Given the description of an element on the screen output the (x, y) to click on. 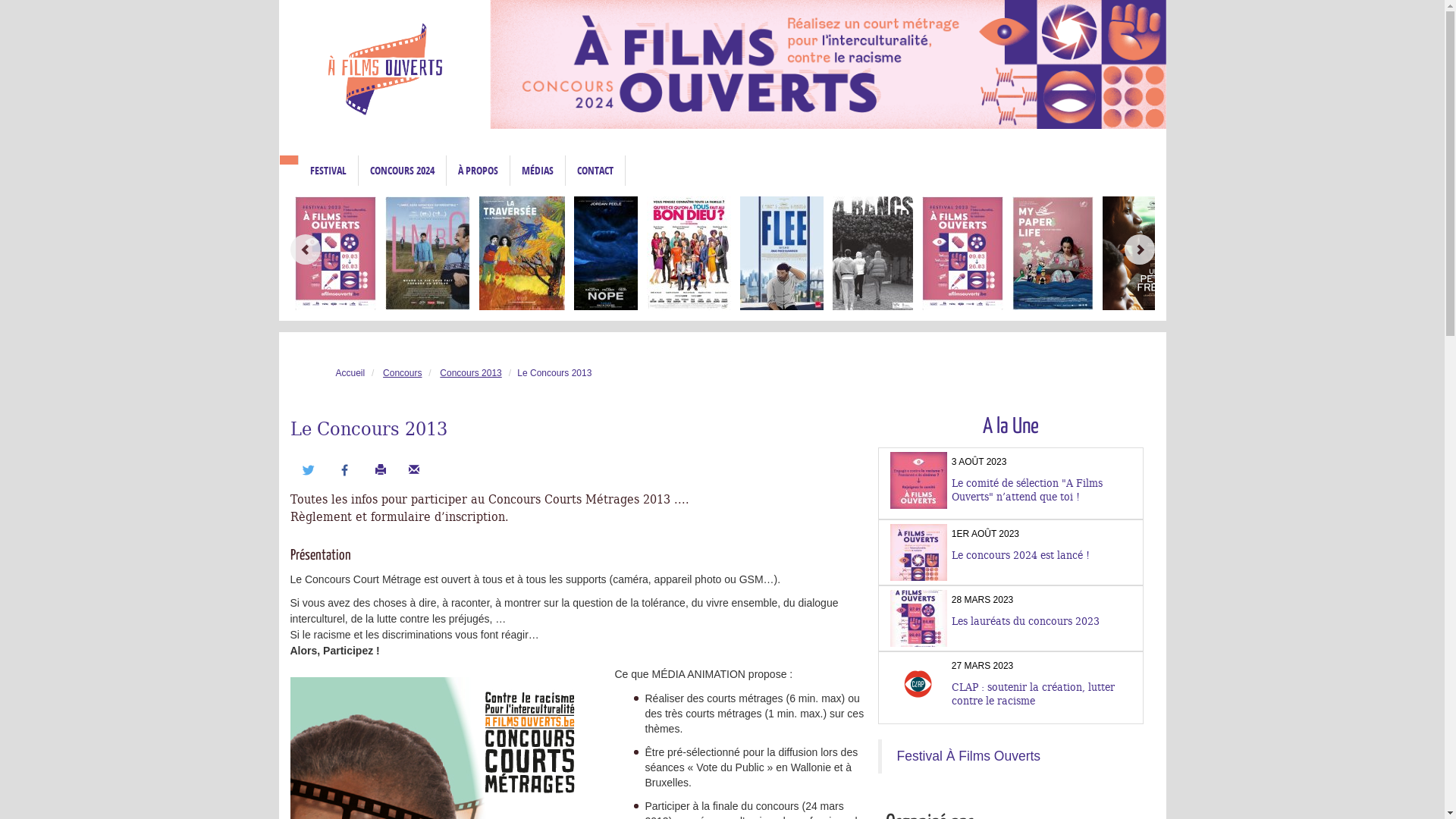
FESTIVAL Element type: text (327, 170)
CONCOURS 2024 Element type: text (401, 170)
CONTACT Element type: text (594, 170)
Mail to Element type: hover (413, 470)
Concours Element type: text (401, 372)
Accueil Element type: hover (288, 159)
Concours 2013 Element type: text (470, 372)
Accueil Element type: text (349, 372)
